Given the description of an element on the screen output the (x, y) to click on. 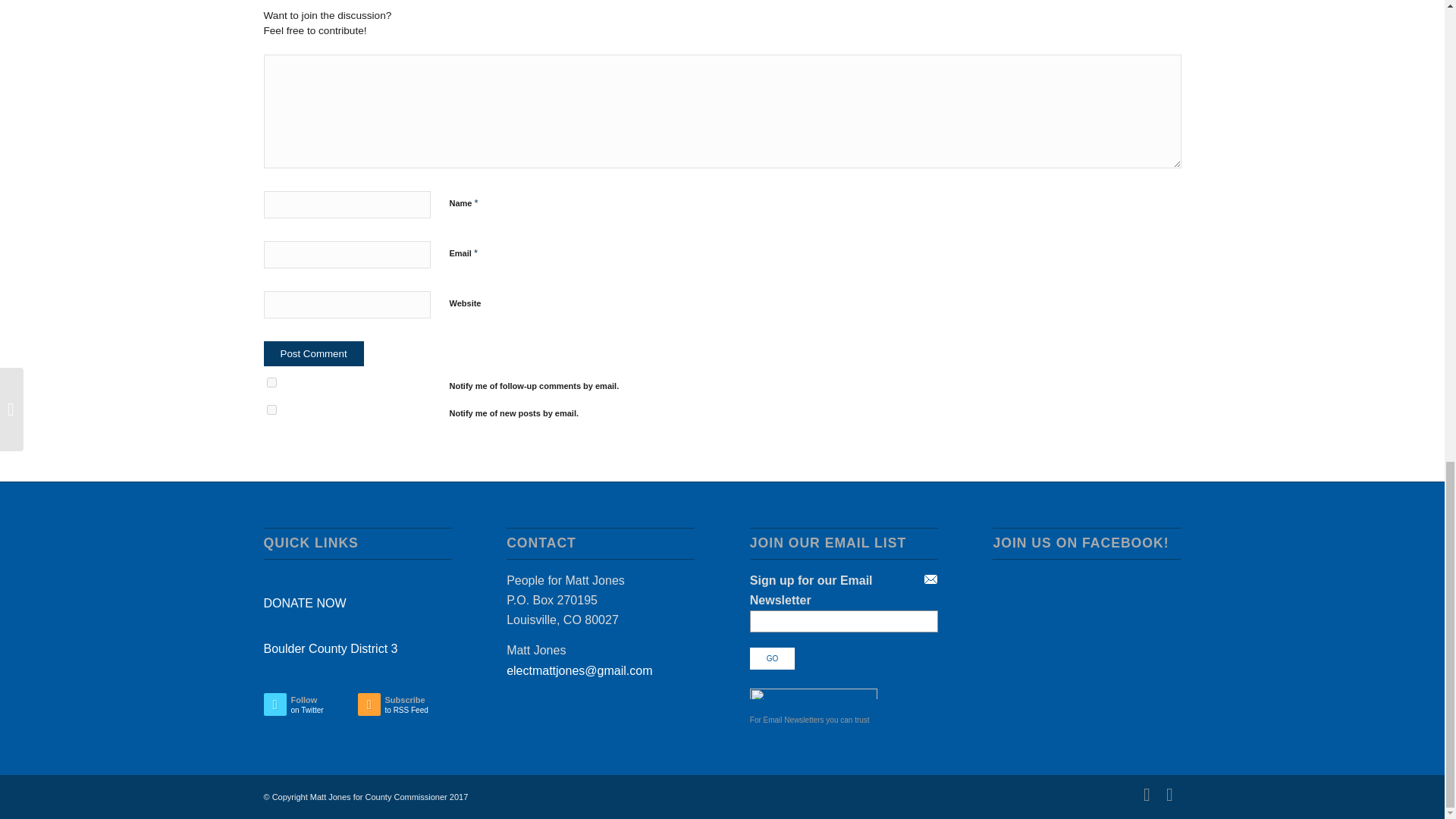
Boulder County District 3 (357, 649)
Post Comment (310, 707)
DONATE NOW (313, 353)
GO (304, 603)
subscribe (771, 658)
Post Comment (271, 409)
subscribe (313, 353)
